Given the description of an element on the screen output the (x, y) to click on. 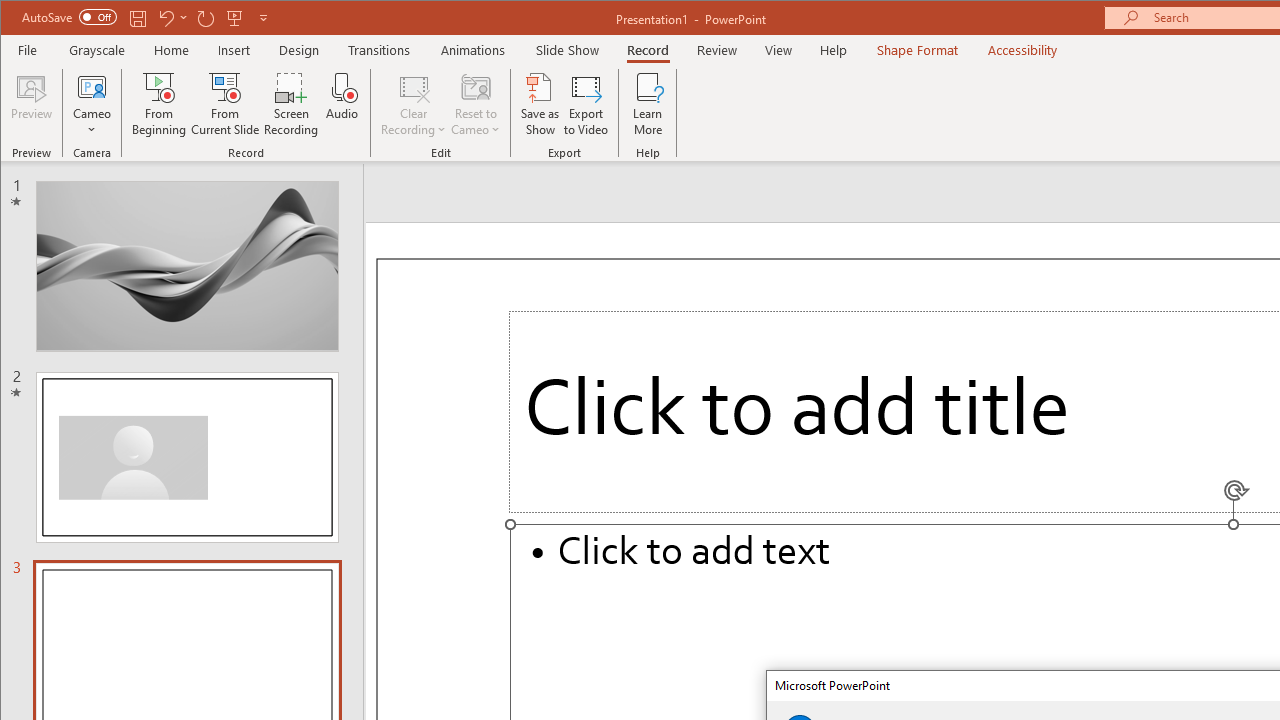
Save as Show (539, 104)
Export to Video (585, 104)
